Given the description of an element on the screen output the (x, y) to click on. 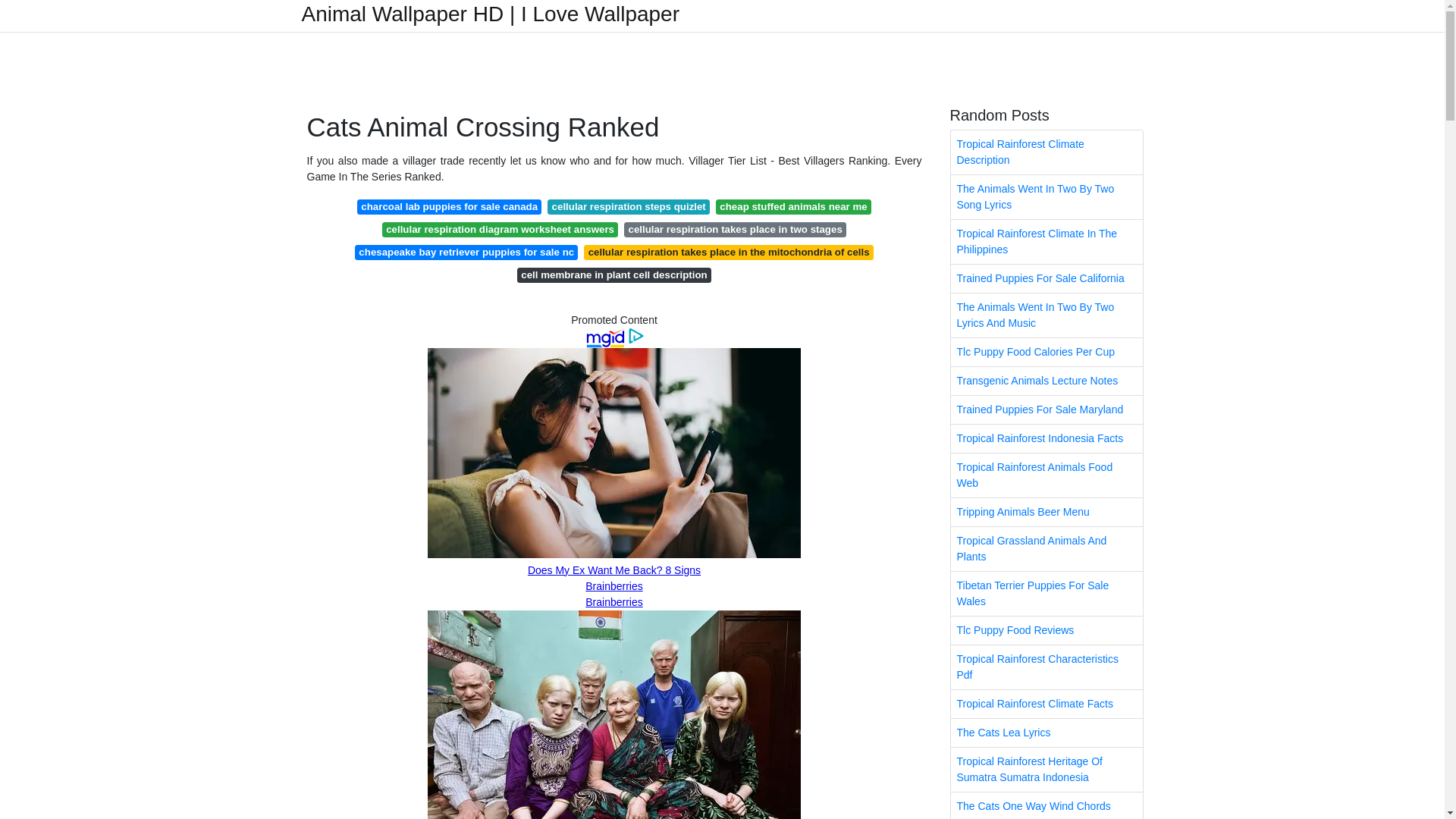
Tropical Rainforest Indonesia Facts (1046, 438)
Transgenic Animals Lecture Notes (1046, 380)
chesapeake bay retriever puppies for sale nc (466, 252)
Trained Puppies For Sale Maryland (1046, 409)
Tropical Rainforest Climate Description (1046, 152)
Tropical Rainforest Animals Food Web (1046, 475)
cellular respiration diagram worksheet answers (499, 229)
Trained Puppies For Sale California (1046, 278)
cellular respiration takes place in two stages (734, 229)
charcoal lab puppies for sale canada (448, 206)
Tropical Rainforest Climate In The Philippines (1046, 241)
The Animals Went In Two By Two Lyrics And Music (1046, 315)
cell membrane in plant cell description (613, 274)
cheap stuffed animals near me (793, 206)
